Given the description of an element on the screen output the (x, y) to click on. 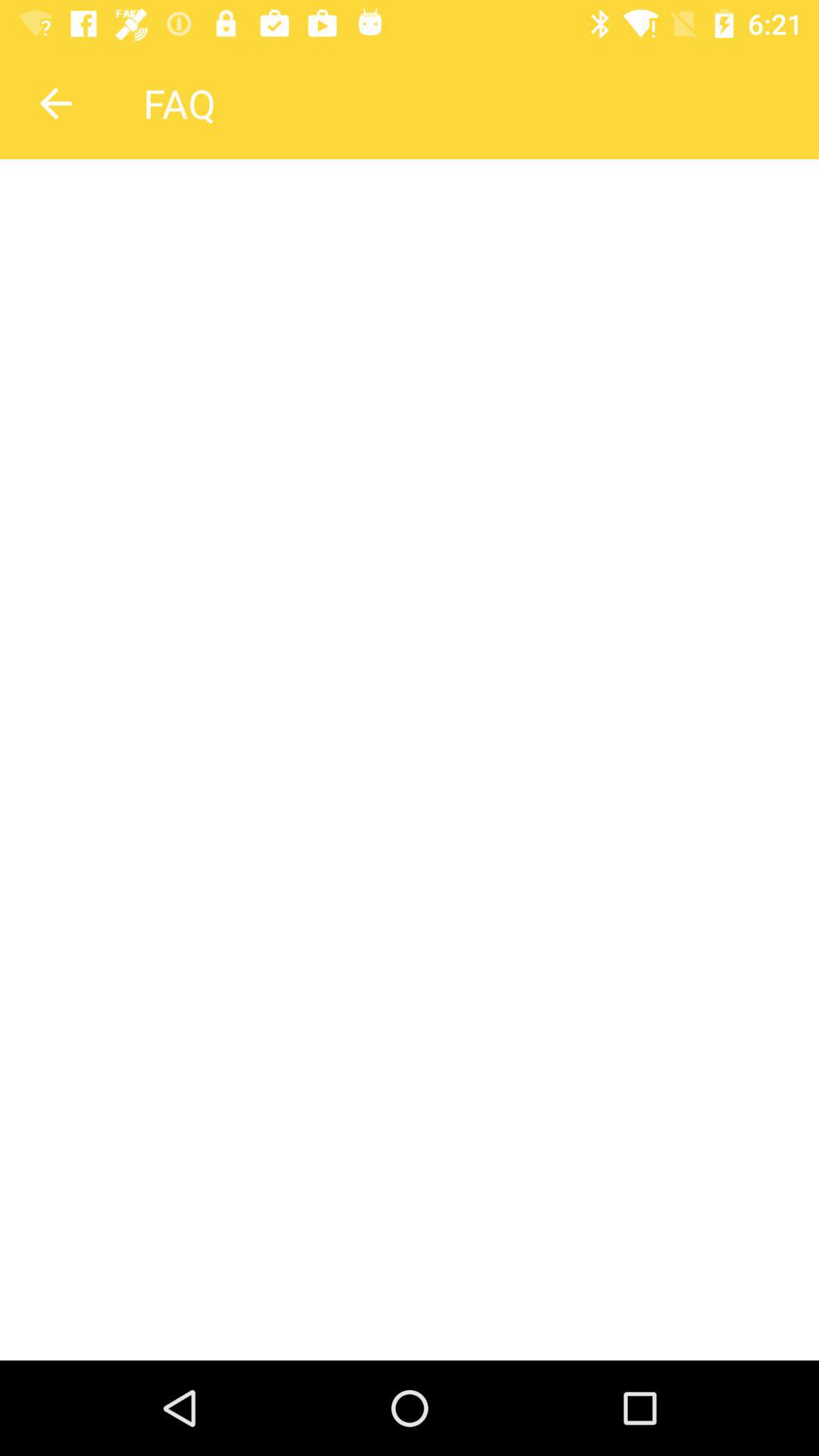
press the back button (55, 103)
